Given the description of an element on the screen output the (x, y) to click on. 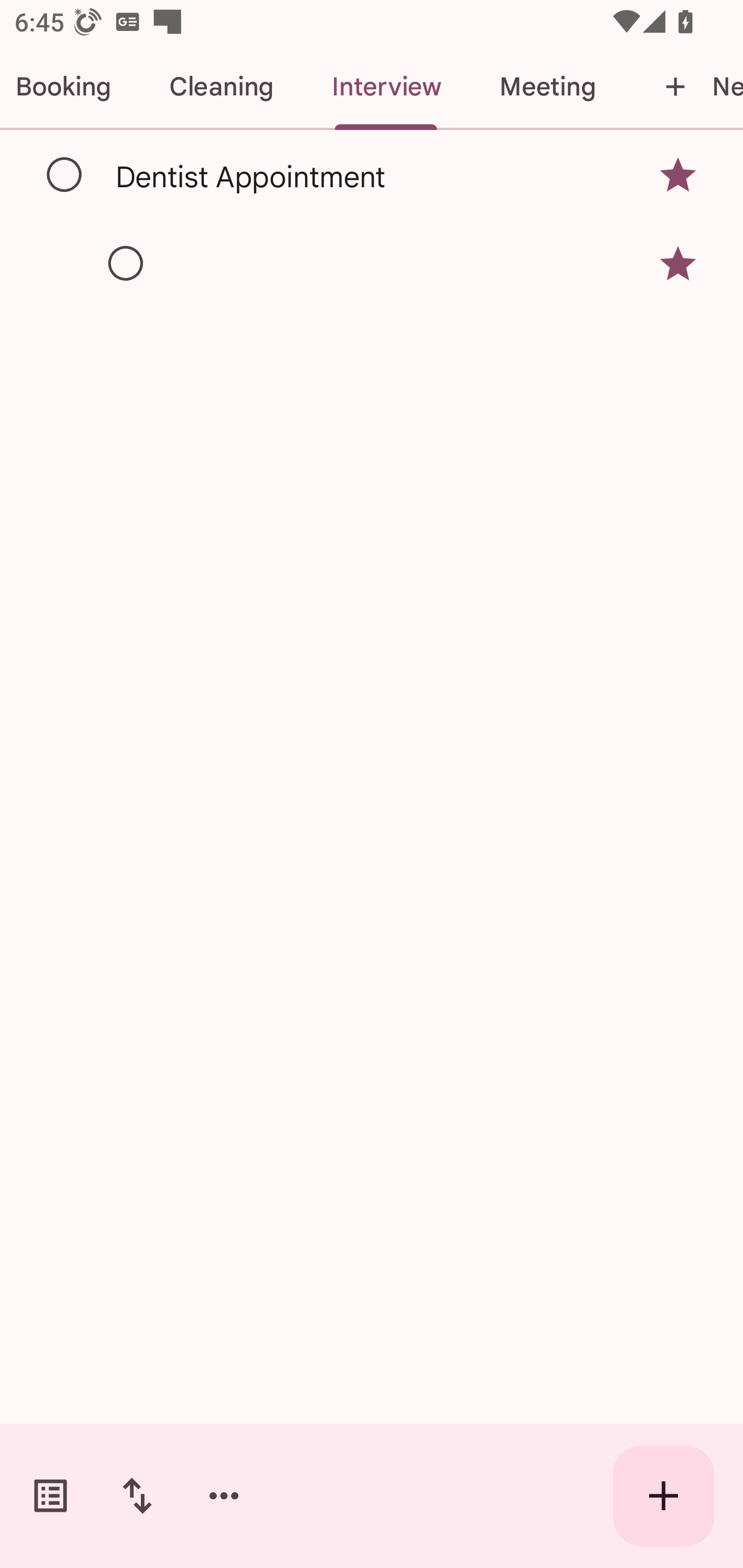
Hotel Booking (69, 86)
Cleaning (220, 86)
Meeting (547, 86)
Remove star (677, 174)
Mark as complete (64, 175)
Remove star (677, 264)
Mark as complete (125, 264)
Switch task lists (50, 1495)
Create new task (663, 1495)
Change sort order (136, 1495)
More options (223, 1495)
